Given the description of an element on the screen output the (x, y) to click on. 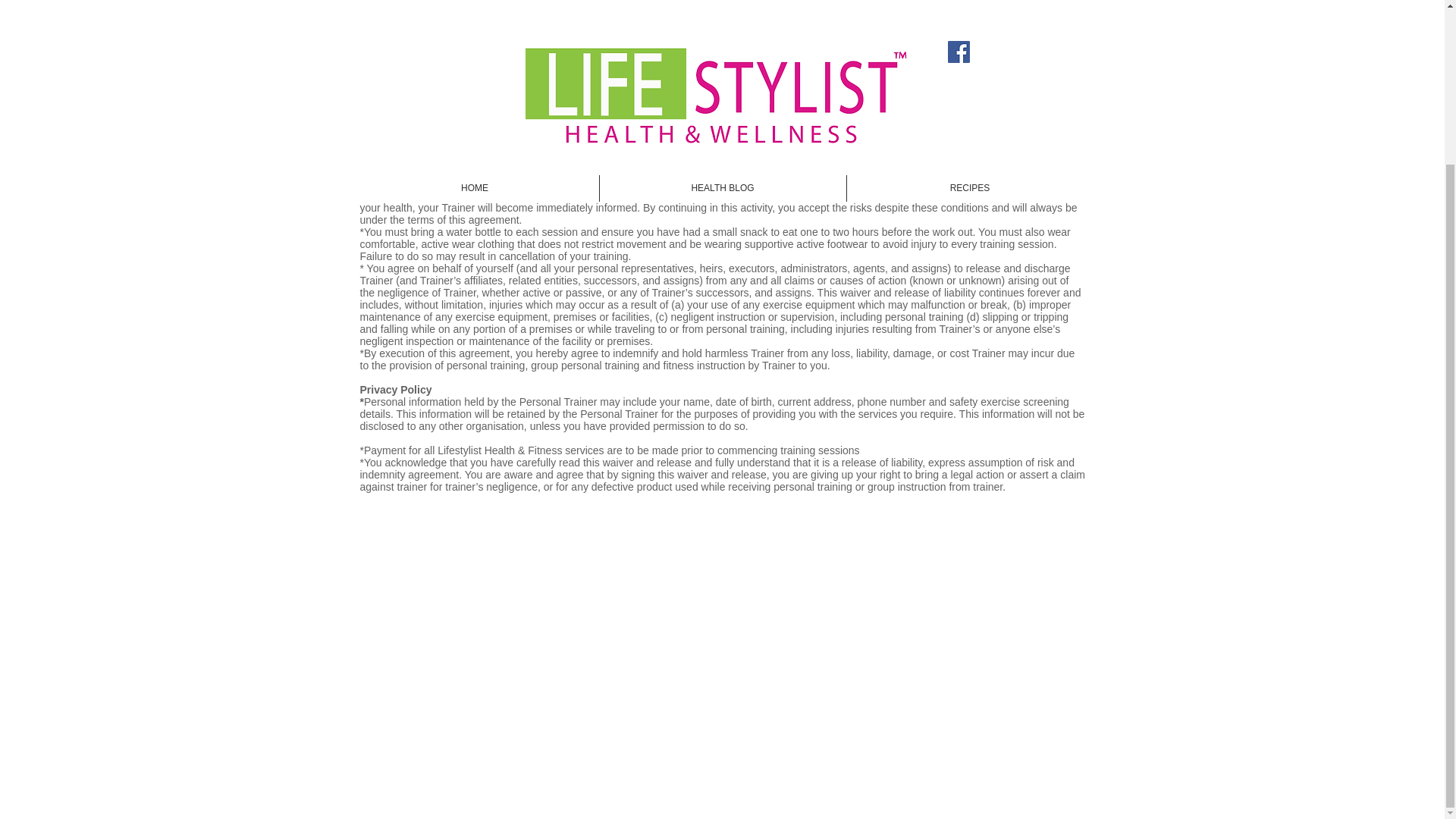
RECIPES (969, 3)
HERE  (847, 625)
Embedded Content (642, 626)
HEALTH BLOG (721, 3)
HOME (474, 3)
